Given the description of an element on the screen output the (x, y) to click on. 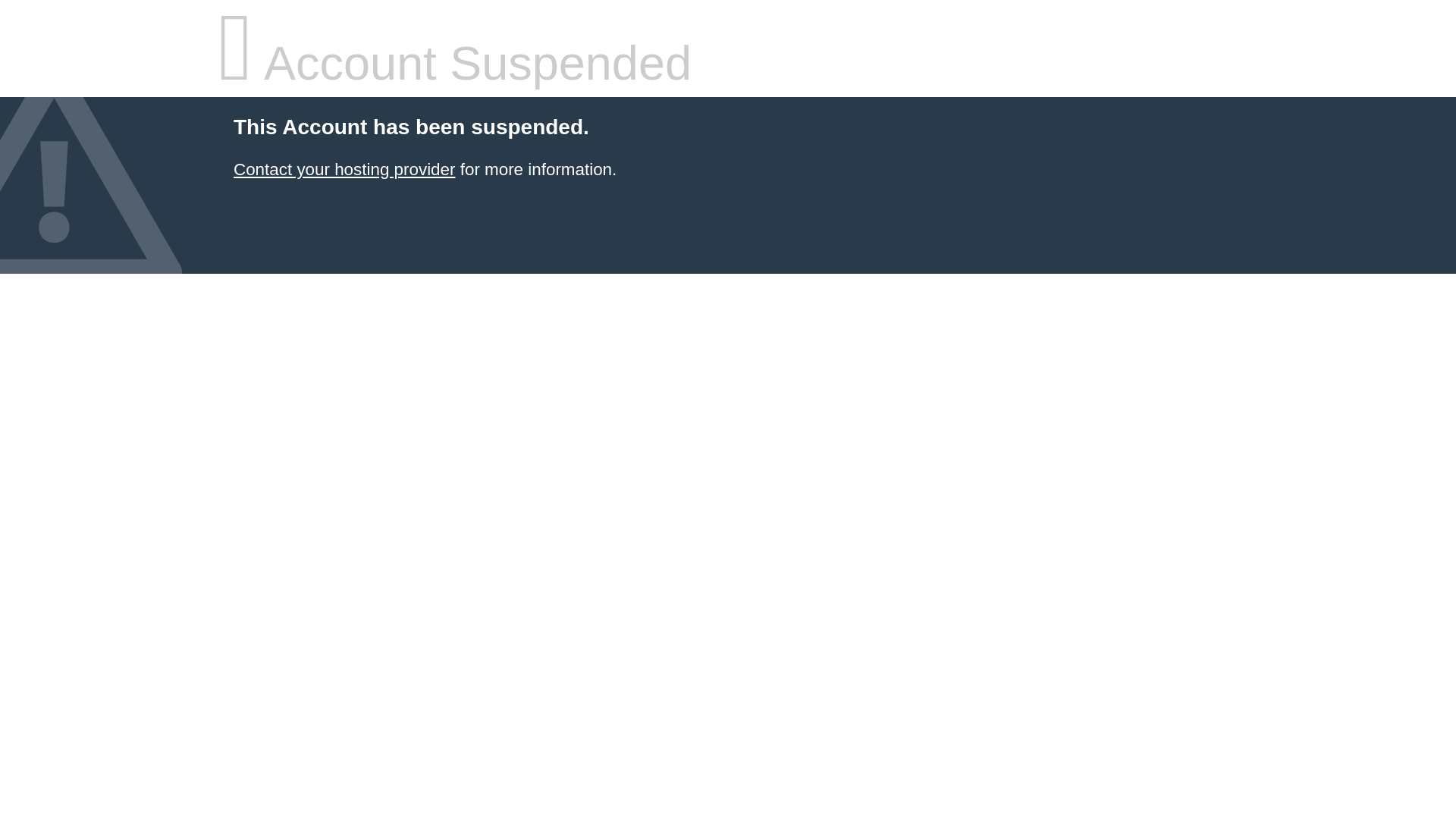
Contact your hosting provider Element type: text (344, 169)
